Given the description of an element on the screen output the (x, y) to click on. 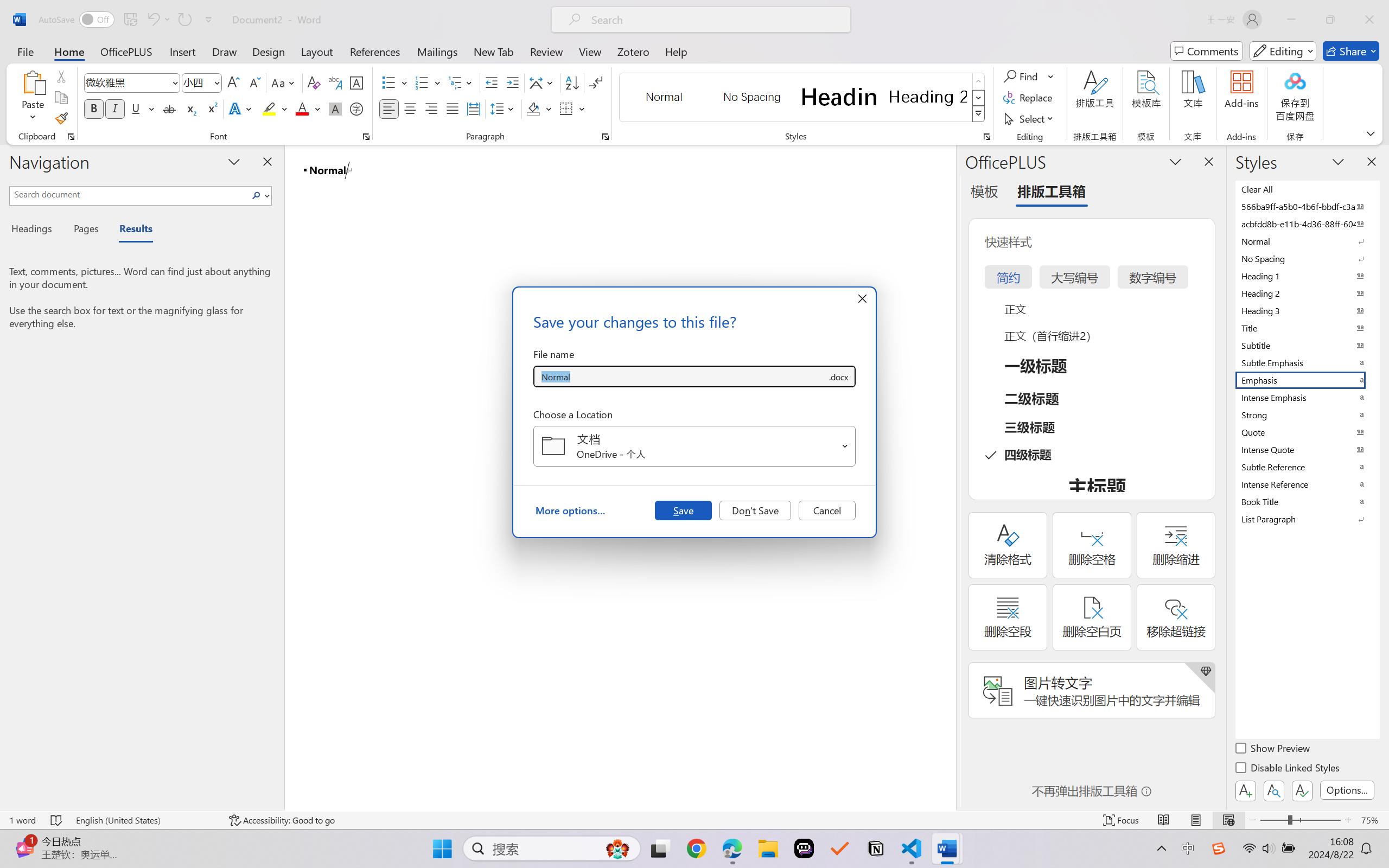
Line and Paragraph Spacing (503, 108)
Zotero (632, 51)
Class: NetUIButton (1301, 790)
Task Pane Options (1175, 161)
Bullets (395, 82)
References (375, 51)
Intense Quote (1306, 449)
Intense Reference (1306, 484)
Grow Font (233, 82)
Customize Quick Access Toolbar (208, 19)
